Given the description of an element on the screen output the (x, y) to click on. 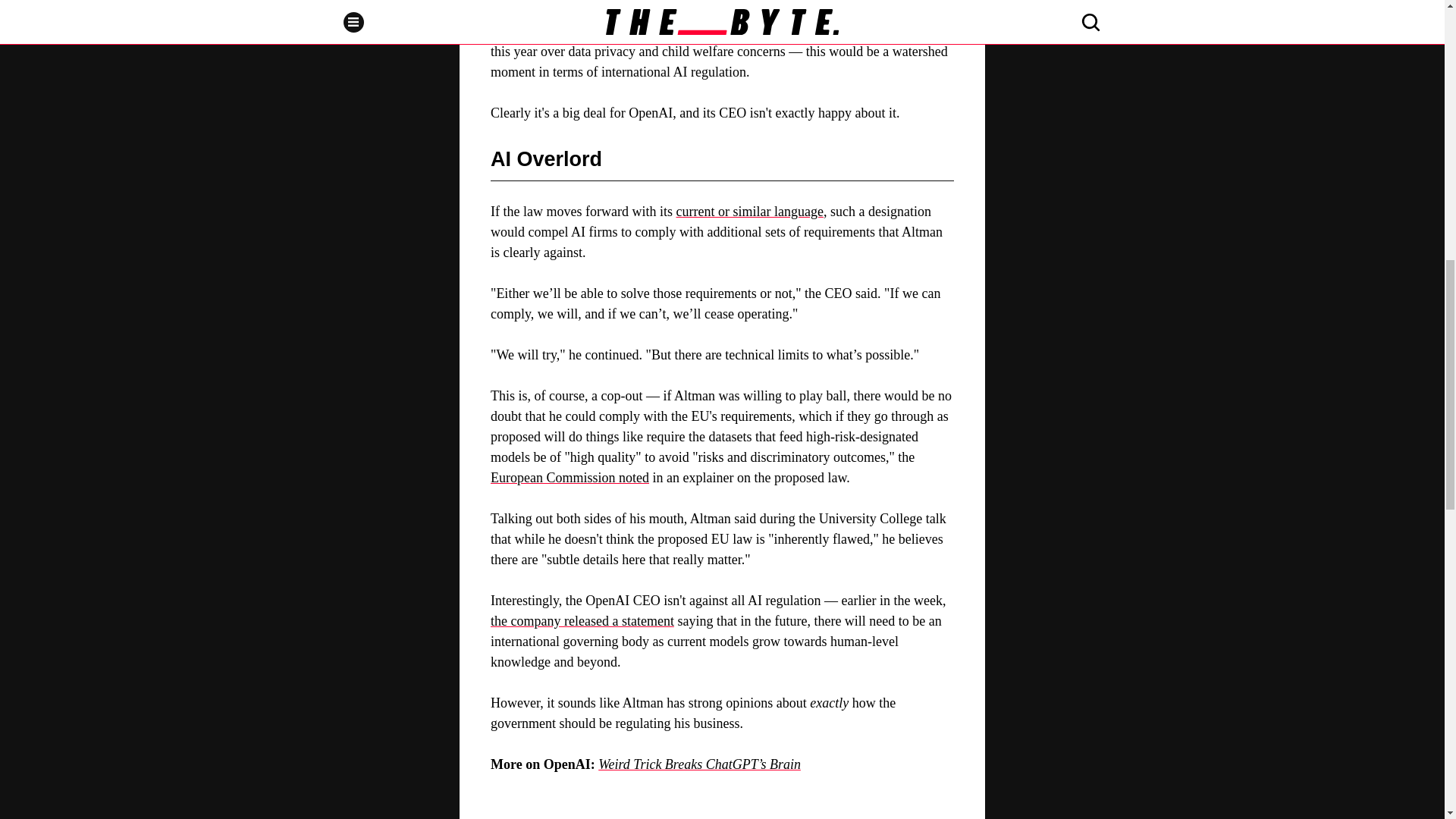
European Commission noted (569, 477)
banned both ChatGPT (679, 30)
the company released a statement (582, 620)
Replika (788, 30)
current or similar language (748, 211)
